Given the description of an element on the screen output the (x, y) to click on. 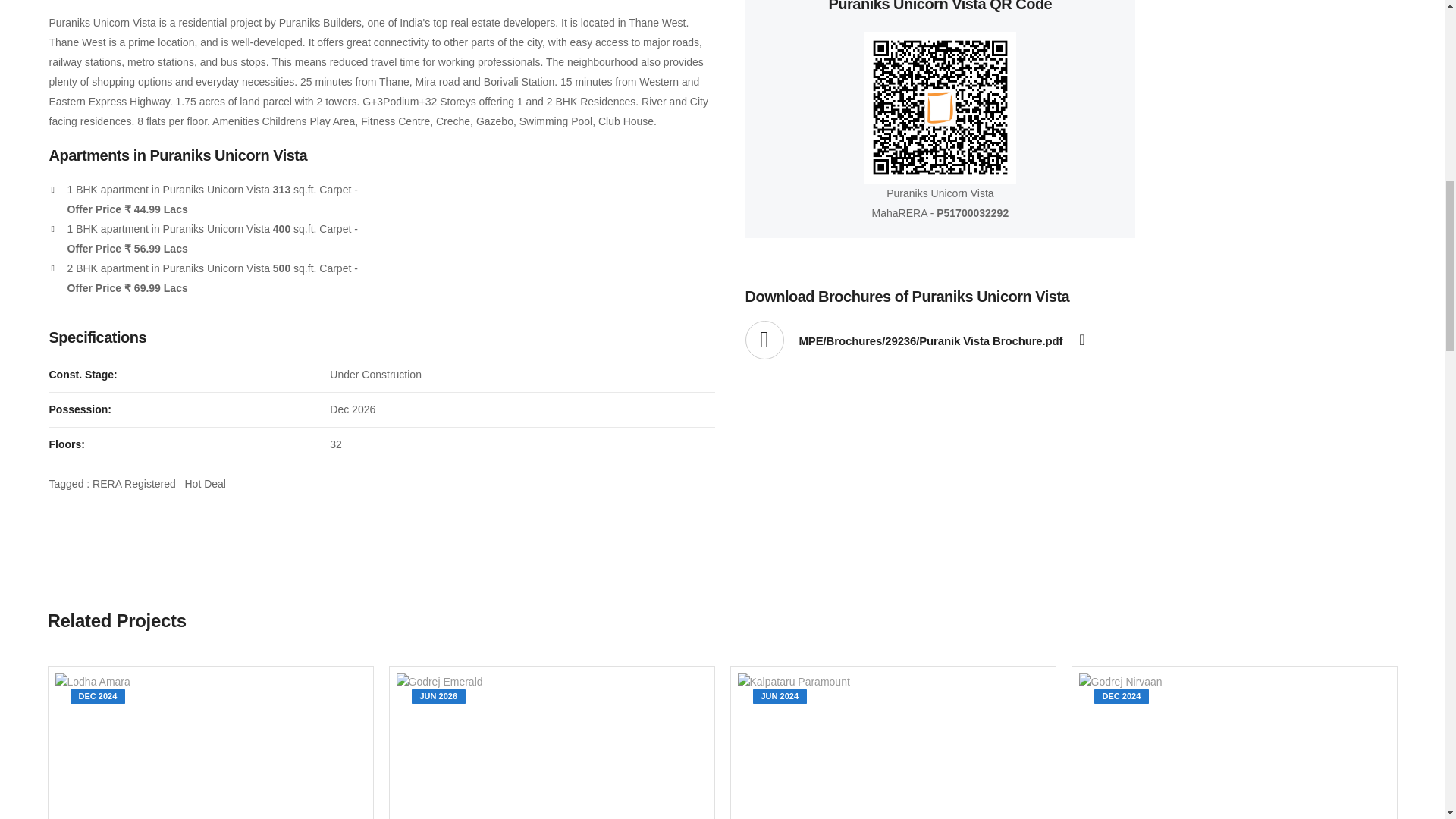
RERA Registered (134, 483)
Hot Deal Projects in Mumbai (204, 483)
RERA Registered Projects in Mumbai (134, 483)
Hot Deal (204, 483)
